Given the description of an element on the screen output the (x, y) to click on. 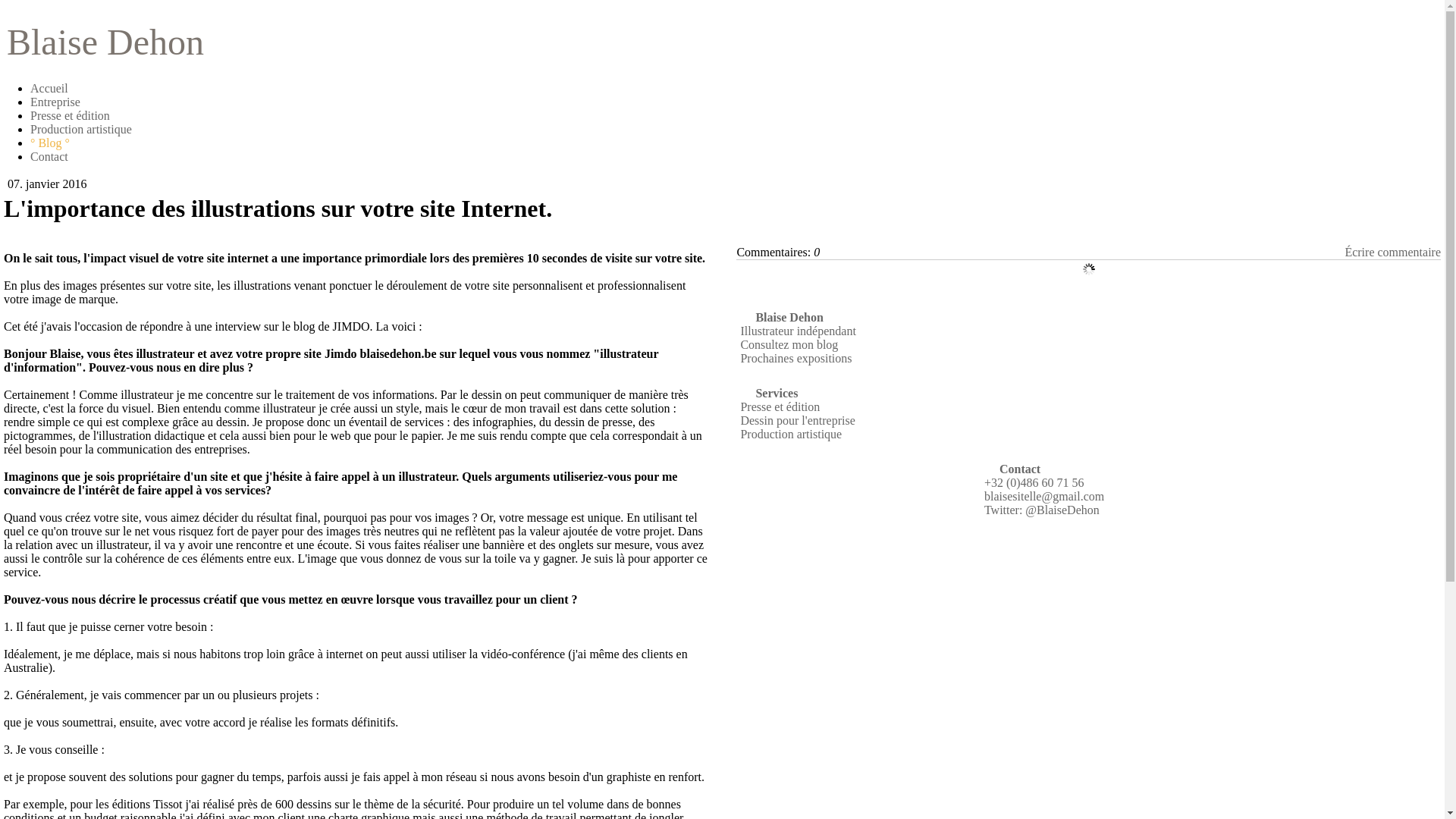
Entreprise Element type: text (55, 101)
Consultez mon blog Element type: text (788, 344)
Contact Element type: text (49, 156)
Production artistique Element type: text (790, 433)
Prochaines expositions Element type: text (795, 357)
Dessin pour l'entreprise Element type: text (797, 420)
@BlaiseDehon Element type: text (1061, 509)
Accueil Element type: text (49, 87)
Production artistique Element type: text (80, 128)
blaisesitelle@gmail.com Element type: text (1044, 495)
